Given the description of an element on the screen output the (x, y) to click on. 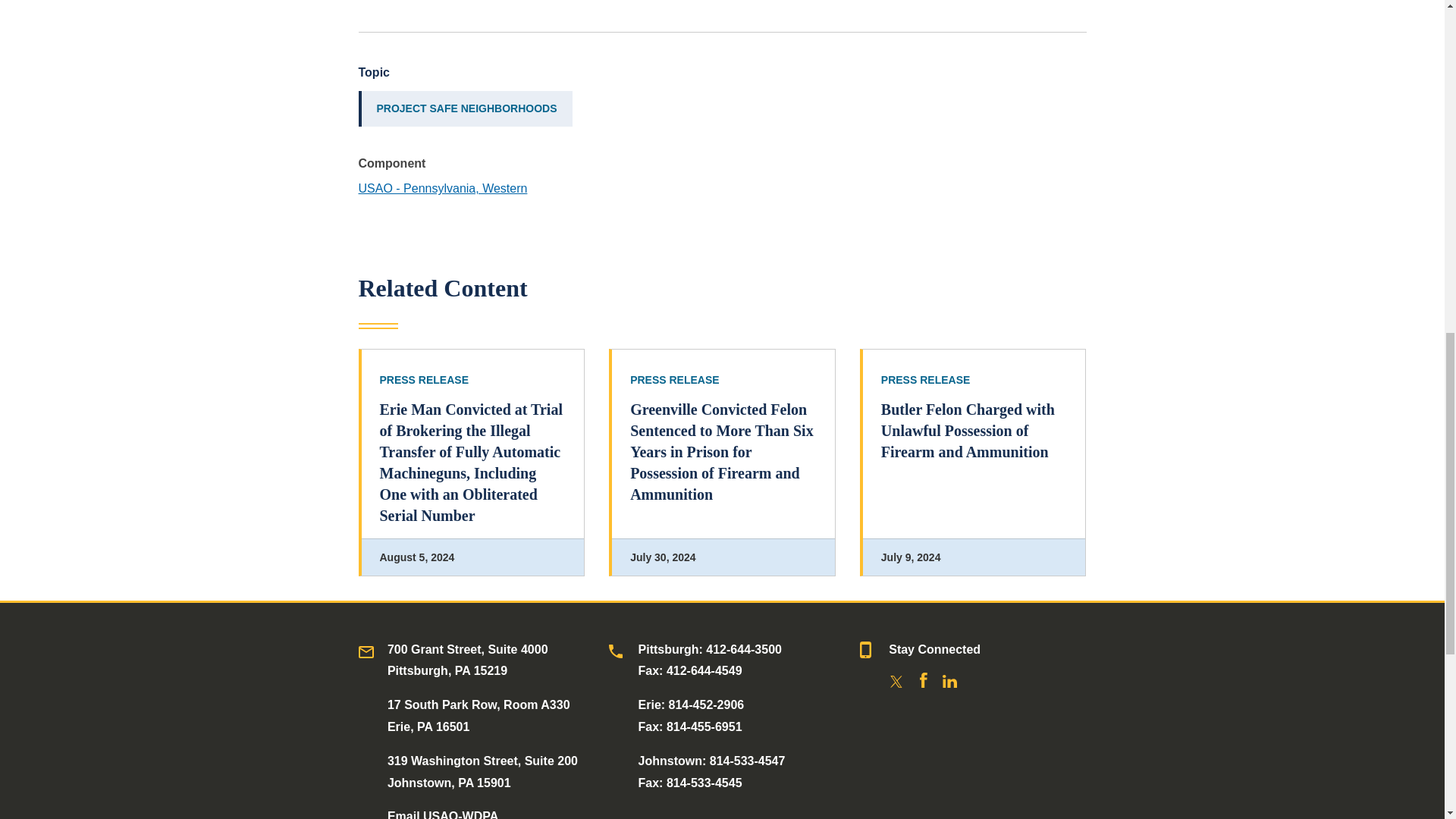
USAO - Pennsylvania, Western (442, 187)
